Given the description of an element on the screen output the (x, y) to click on. 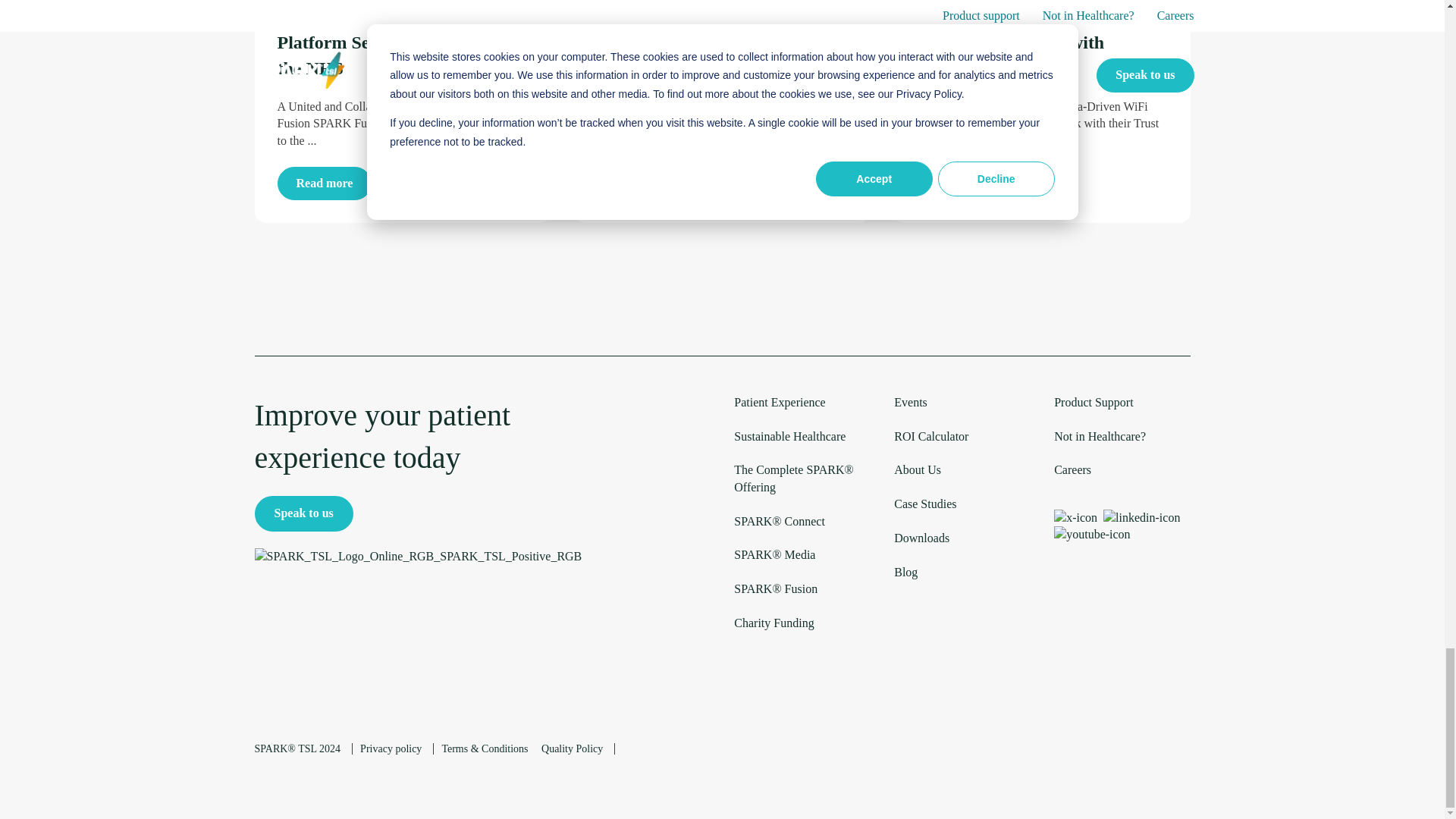
Speak to us (303, 513)
